Given the description of an element on the screen output the (x, y) to click on. 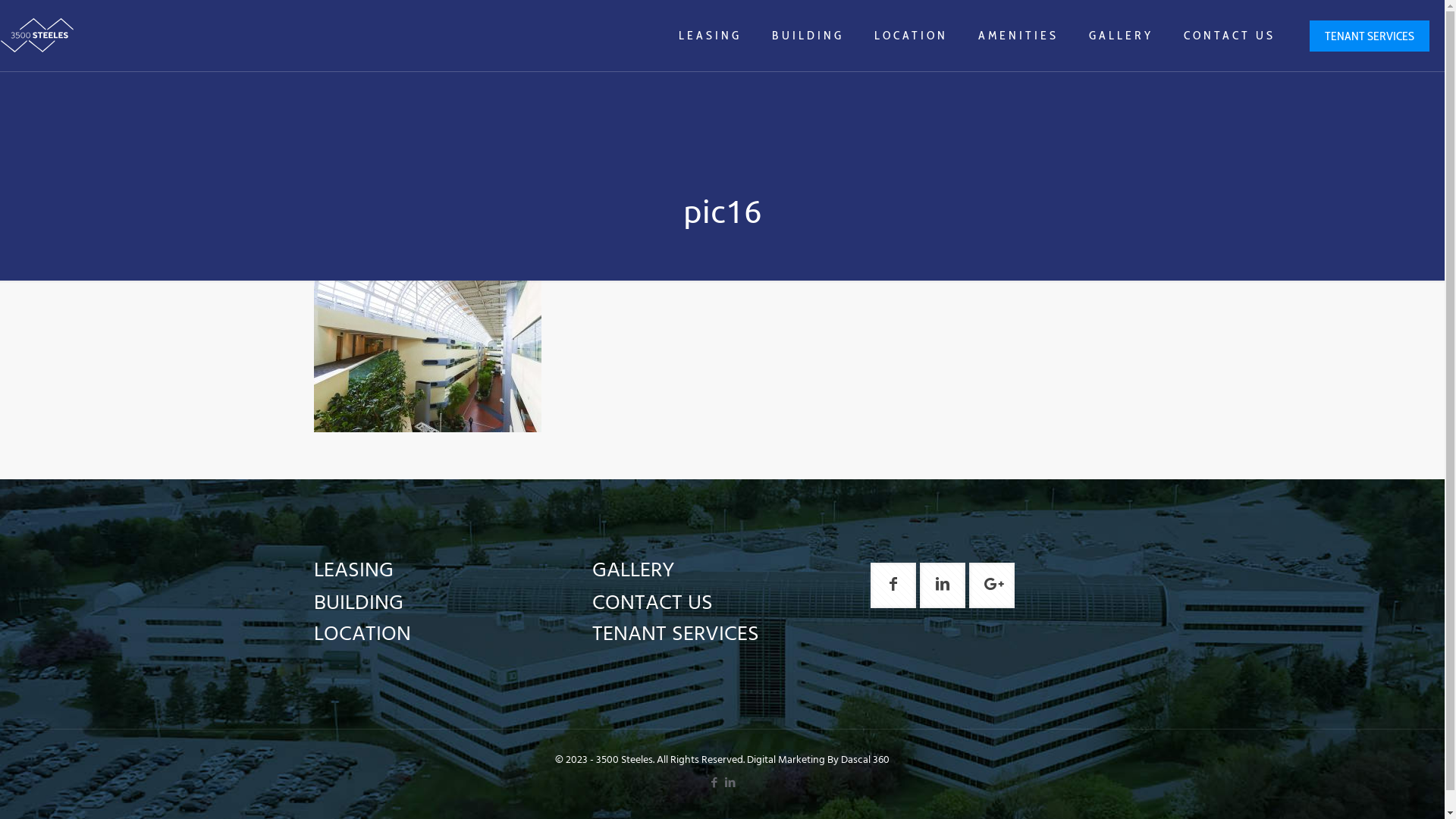
TENANT SERVICES Element type: text (675, 634)
TENANT SERVICES Element type: text (1369, 34)
LOCATION Element type: text (362, 634)
LOCATION Element type: text (911, 35)
LEASING Element type: text (709, 35)
CONTACT US Element type: text (652, 603)
BUILDING Element type: text (807, 35)
GALLERY Element type: text (1120, 35)
LinkedIn Element type: hover (730, 783)
CONTACT US Element type: text (1229, 35)
GALLERY Element type: text (633, 570)
LEASING Element type: text (353, 570)
Facebook Element type: hover (713, 783)
AMENITIES Element type: text (1018, 35)
BUILDING Element type: text (358, 603)
3500 STEELES Element type: hover (37, 35)
